Given the description of an element on the screen output the (x, y) to click on. 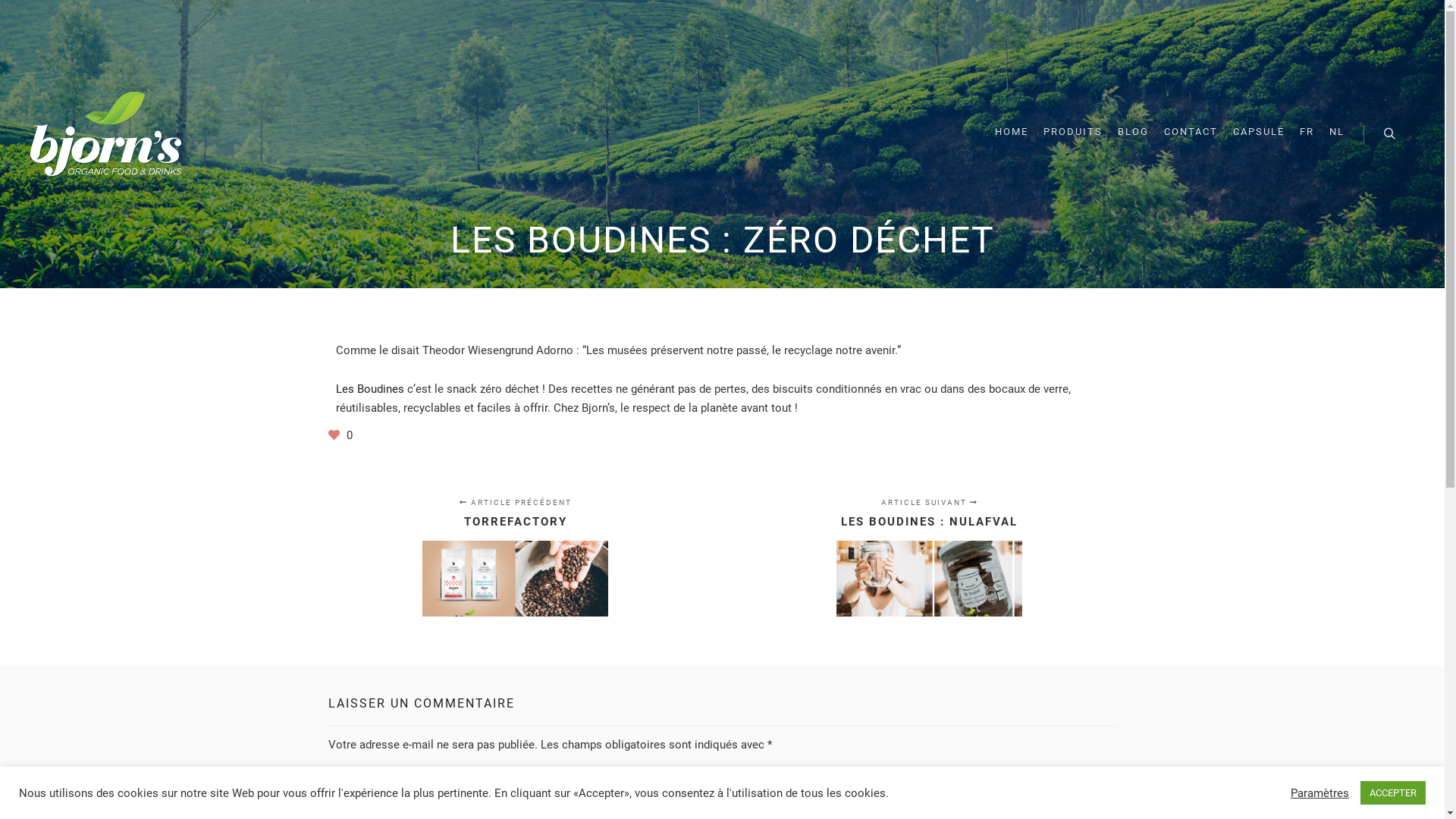
Rechercher Element type: hover (1388, 134)
BLOG Element type: text (1133, 131)
ARTICLE SUIVANT
LES BOUDINES : NULAFVAL Element type: text (918, 559)
CONTACT Element type: text (1190, 131)
CAPSULE Element type: text (1258, 131)
FR Element type: text (1306, 131)
Les Boudines Element type: text (369, 388)
HOME Element type: text (1011, 131)
NL Element type: text (1336, 131)
ACCEPTER Element type: text (1392, 792)
PRODUITS Element type: text (1072, 131)
